Given the description of an element on the screen output the (x, y) to click on. 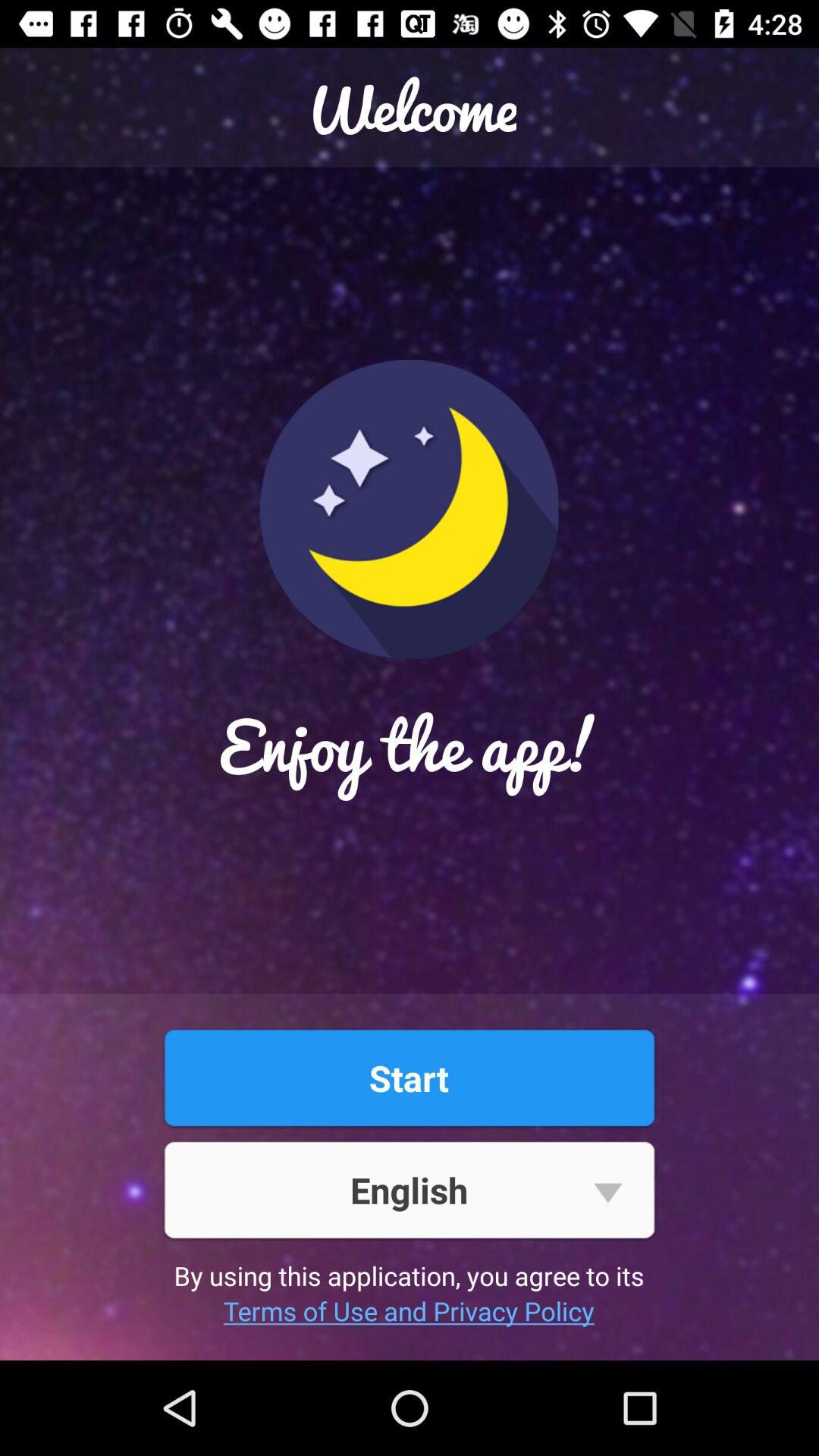
choose the english button (409, 1190)
